Given the description of an element on the screen output the (x, y) to click on. 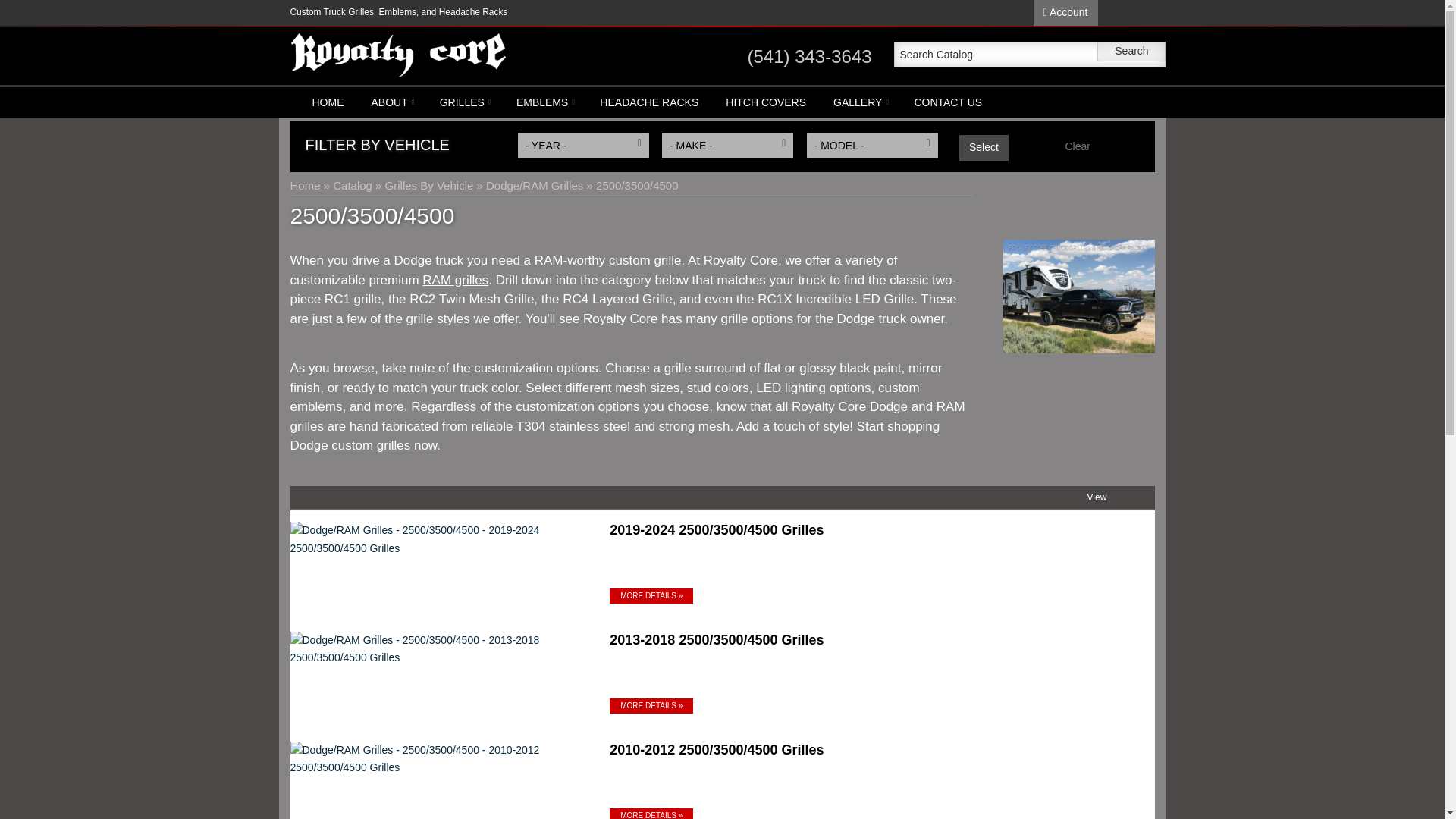
GRILLES (464, 101)
Royalty Core Homepage (397, 55)
HEADACHE RACKS (649, 101)
Search Catalog (1029, 54)
EMBLEMS (544, 101)
About (392, 101)
call us (808, 55)
Search (1131, 51)
Search Catalog (1029, 54)
Account (1065, 12)
